Given the description of an element on the screen output the (x, y) to click on. 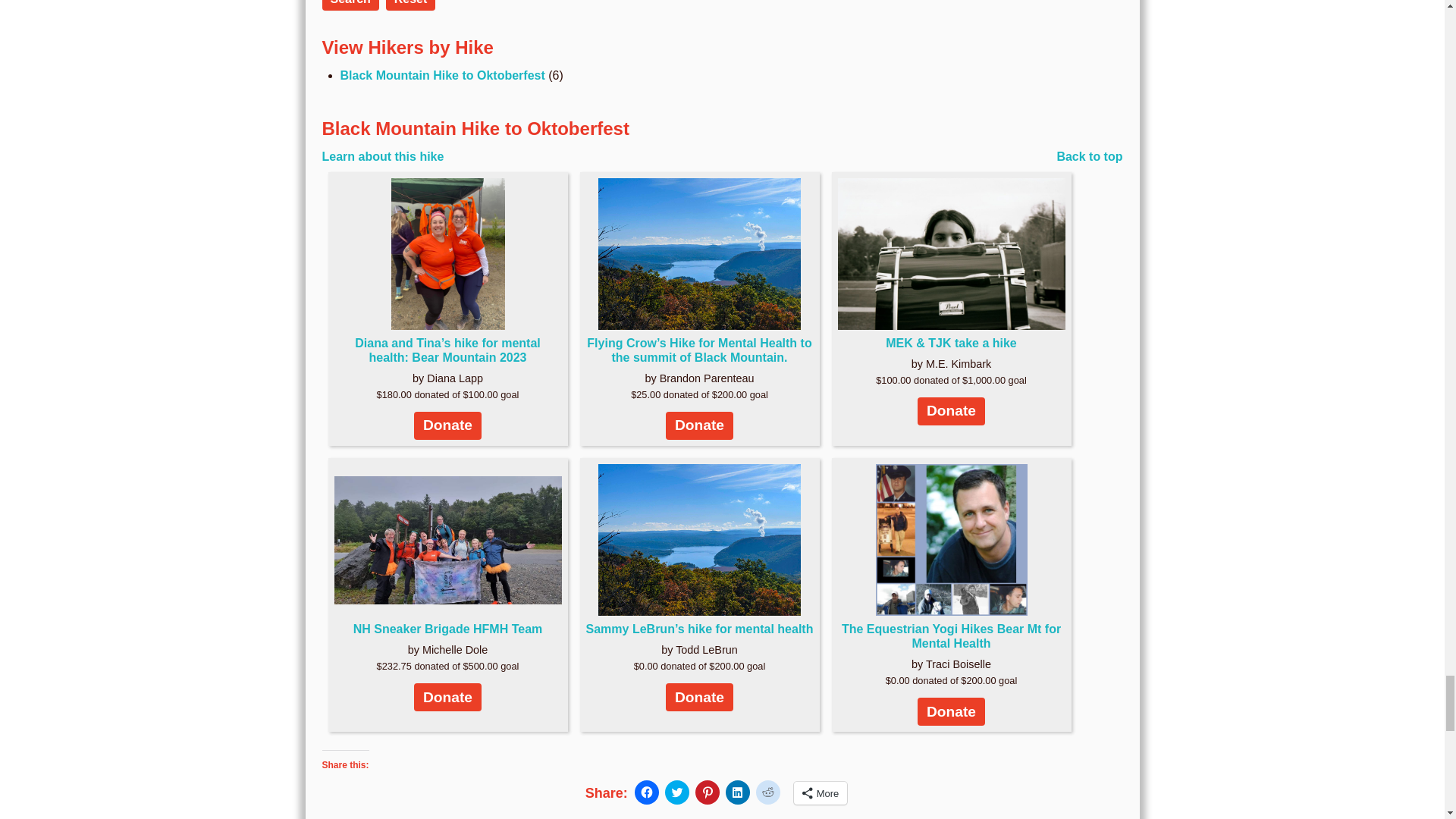
Click to share on LinkedIn (737, 792)
Click to share on Facebook (646, 792)
Click to share on Twitter (676, 792)
Click to share on Pinterest (707, 792)
Back to top (1089, 157)
Reset (410, 5)
Search (349, 5)
Learn about this hike (382, 155)
Black Mountain Hike to Oktoberfest (441, 74)
Reset (410, 2)
